Given the description of an element on the screen output the (x, y) to click on. 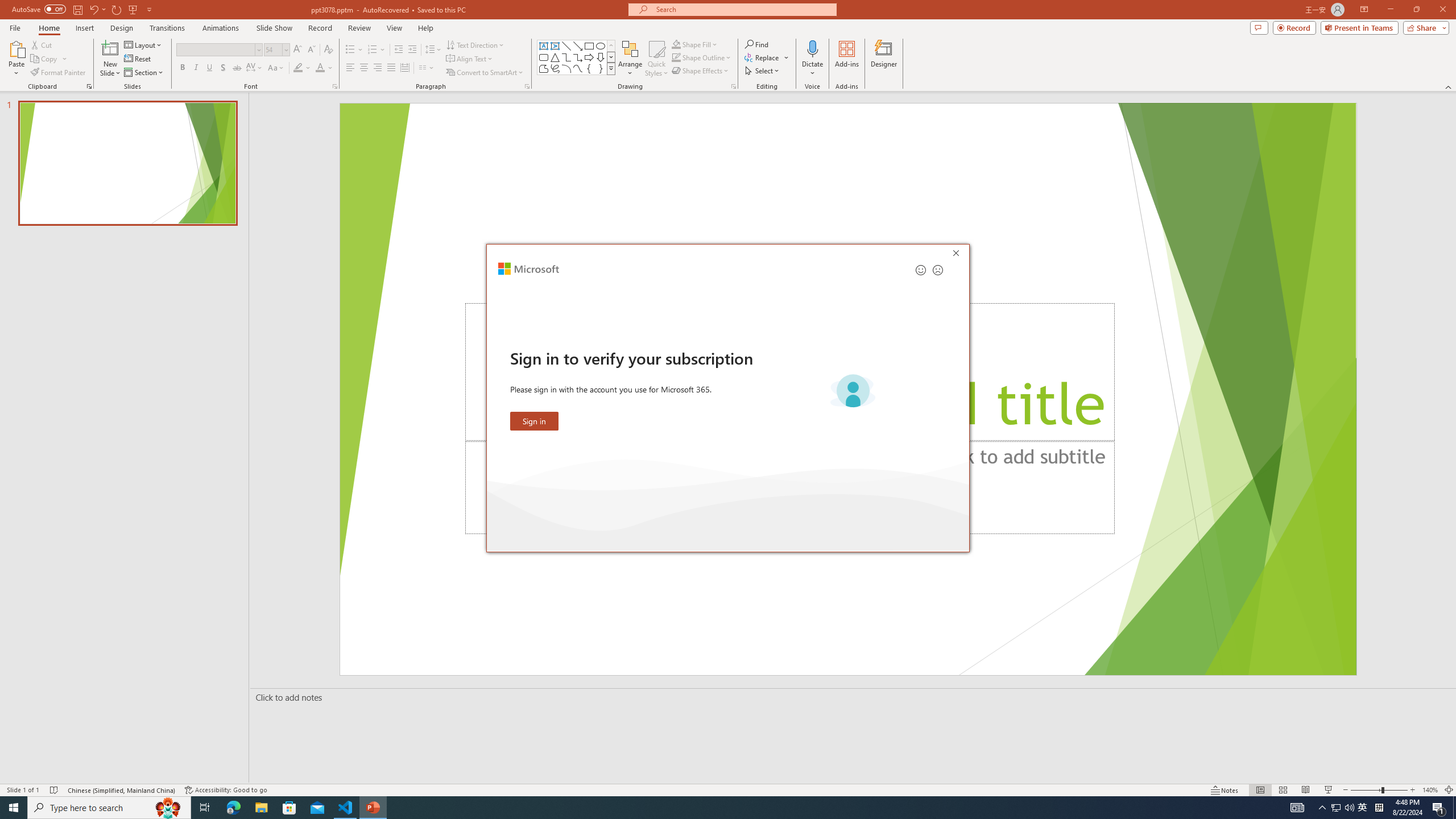
Convert to SmartArt (485, 72)
Right Brace (600, 68)
Layout (143, 44)
Format Painter (58, 72)
Align Left (349, 67)
Strikethrough (237, 67)
